Given the description of an element on the screen output the (x, y) to click on. 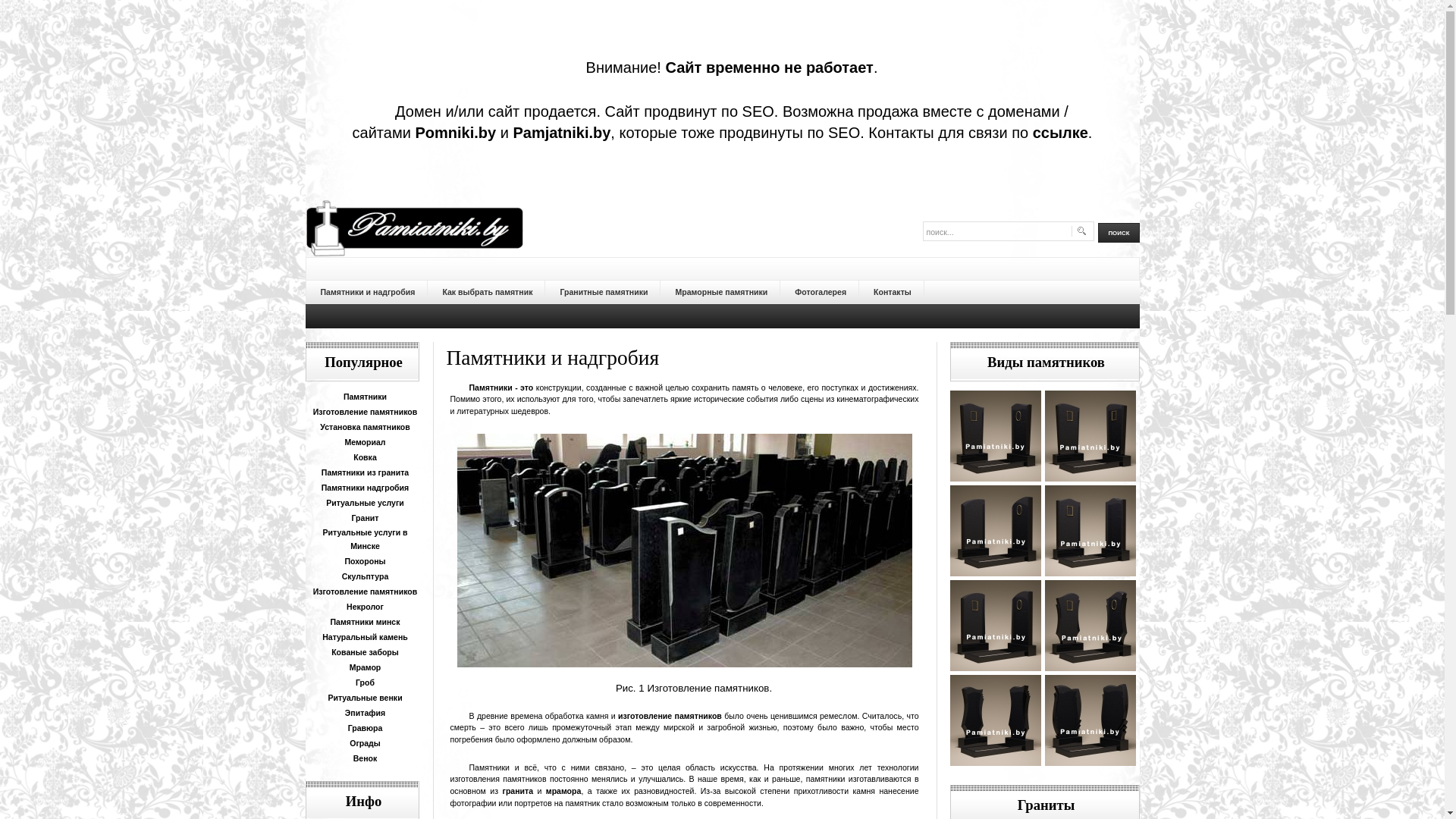
Pamjatniki.by Element type: text (561, 132)
Pomniki.by Element type: text (454, 132)
